Given the description of an element on the screen output the (x, y) to click on. 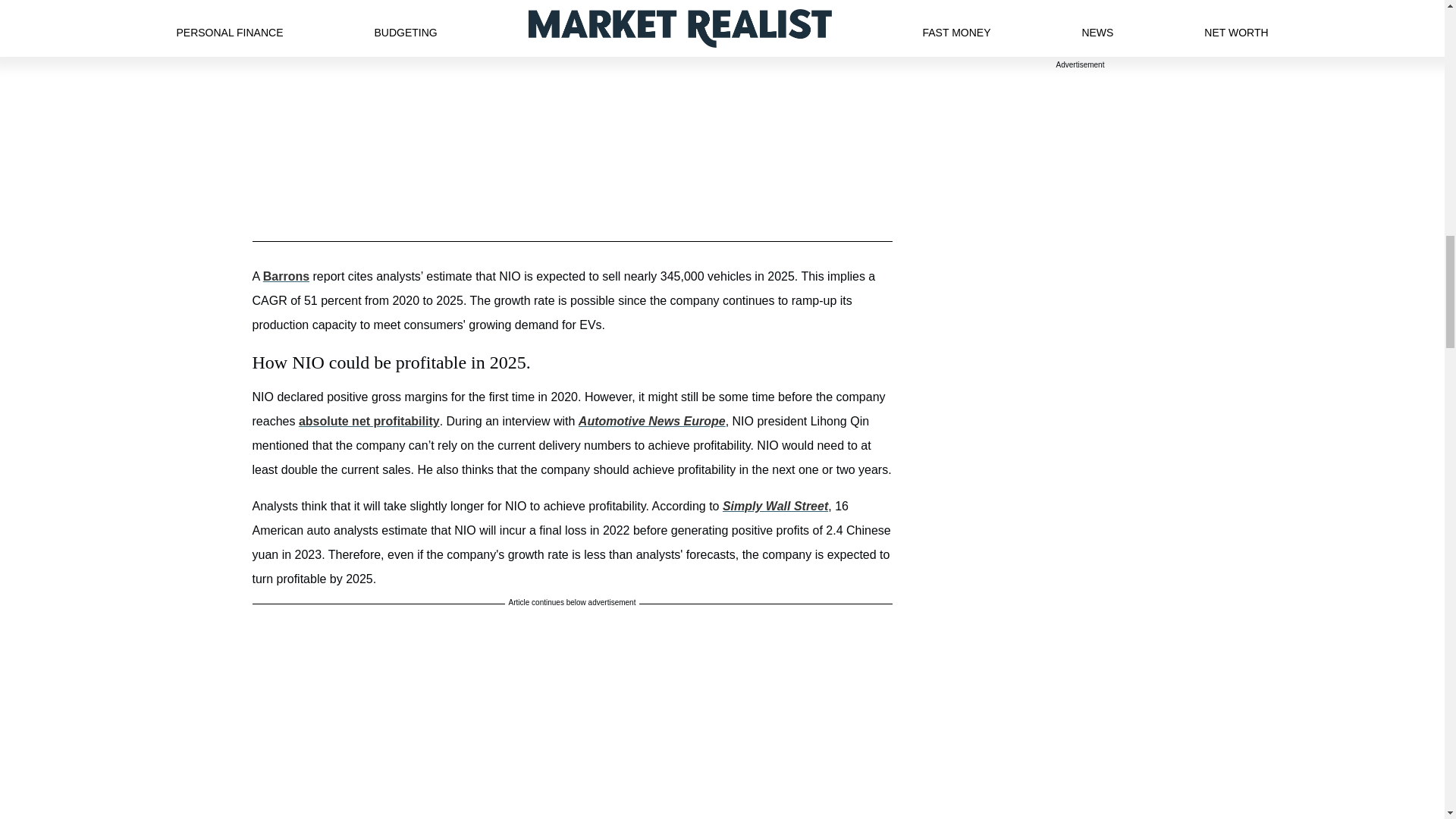
absolute net profitability (368, 420)
Barrons (285, 276)
Simply Wall Street (775, 505)
Automotive News Europe (651, 420)
